Given the description of an element on the screen output the (x, y) to click on. 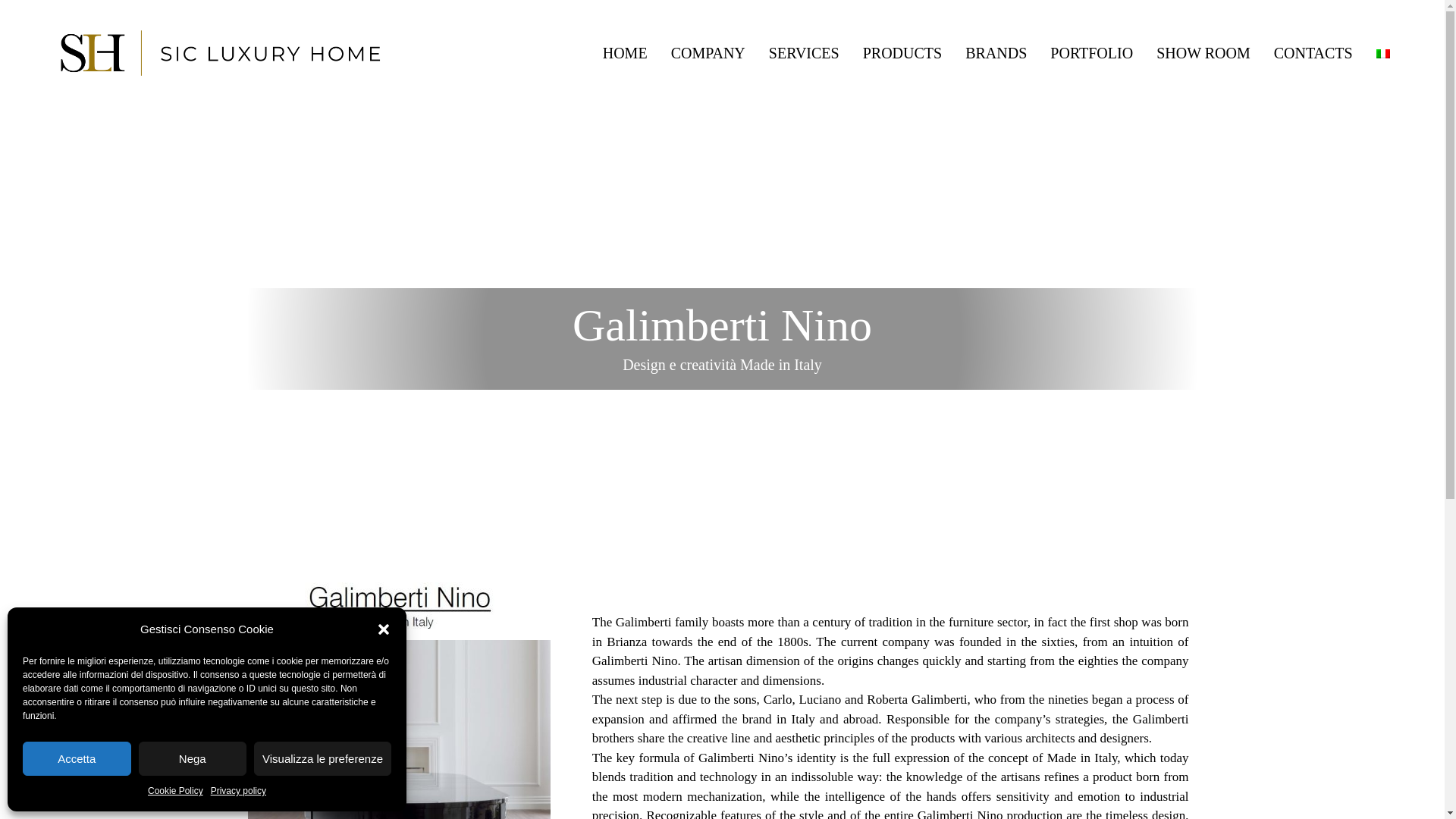
SHOW ROOM (1203, 52)
Galimberti Nino (398, 729)
SERVICES (803, 52)
Visualizza le preferenze (322, 758)
PRODUCTS (902, 52)
Nega (192, 758)
HOME (625, 52)
PORTFOLIO (1091, 52)
COMPANY (708, 52)
Privacy policy (238, 791)
CONTACTS (1313, 52)
BRANDS (995, 52)
Accetta (77, 758)
Cookie Policy (175, 791)
